Given the description of an element on the screen output the (x, y) to click on. 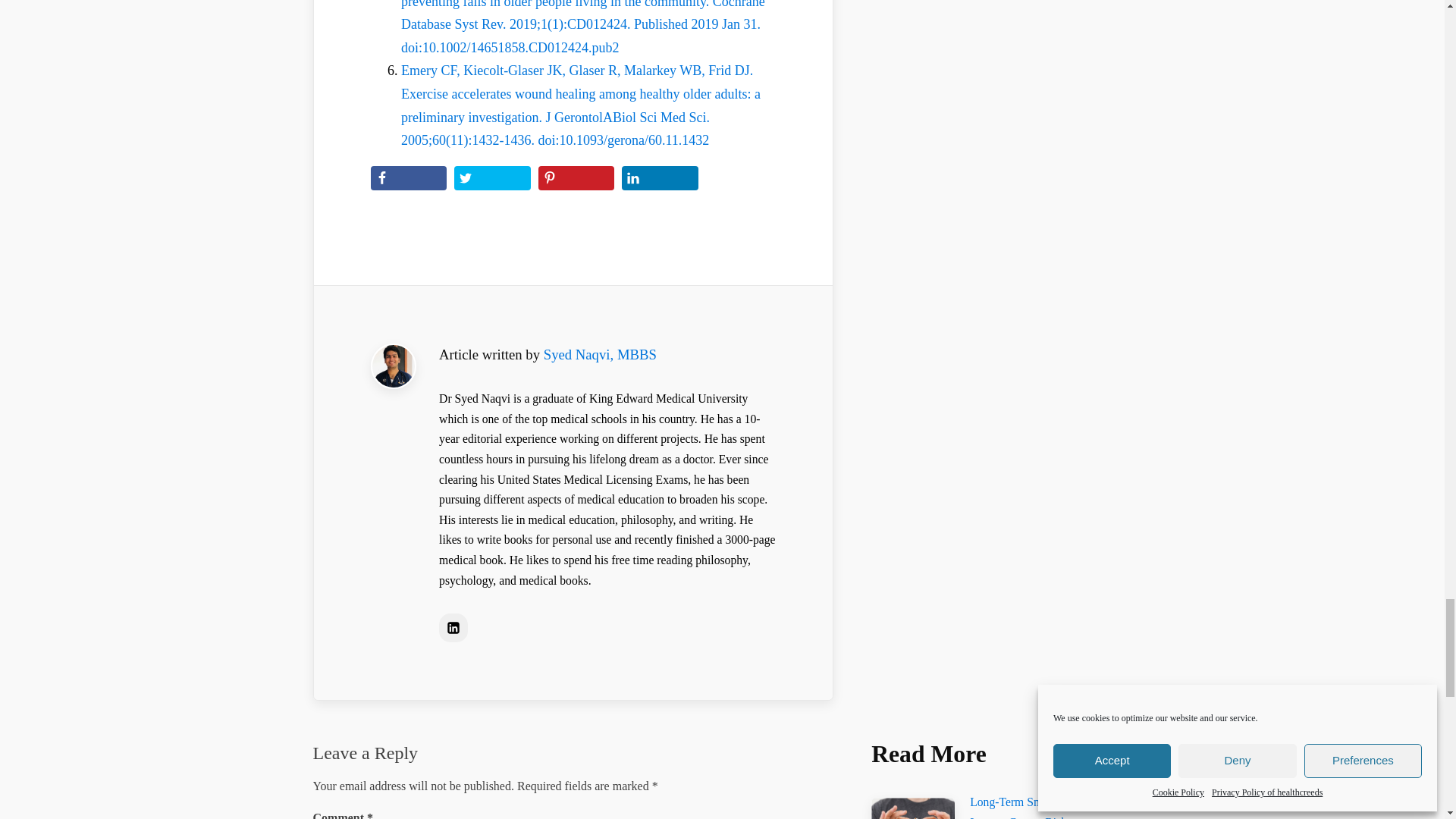
Share on Pinterest (576, 178)
Share on LinkedIn (659, 178)
Share on Facebook (408, 178)
Share on Twitter (491, 178)
